Given the description of an element on the screen output the (x, y) to click on. 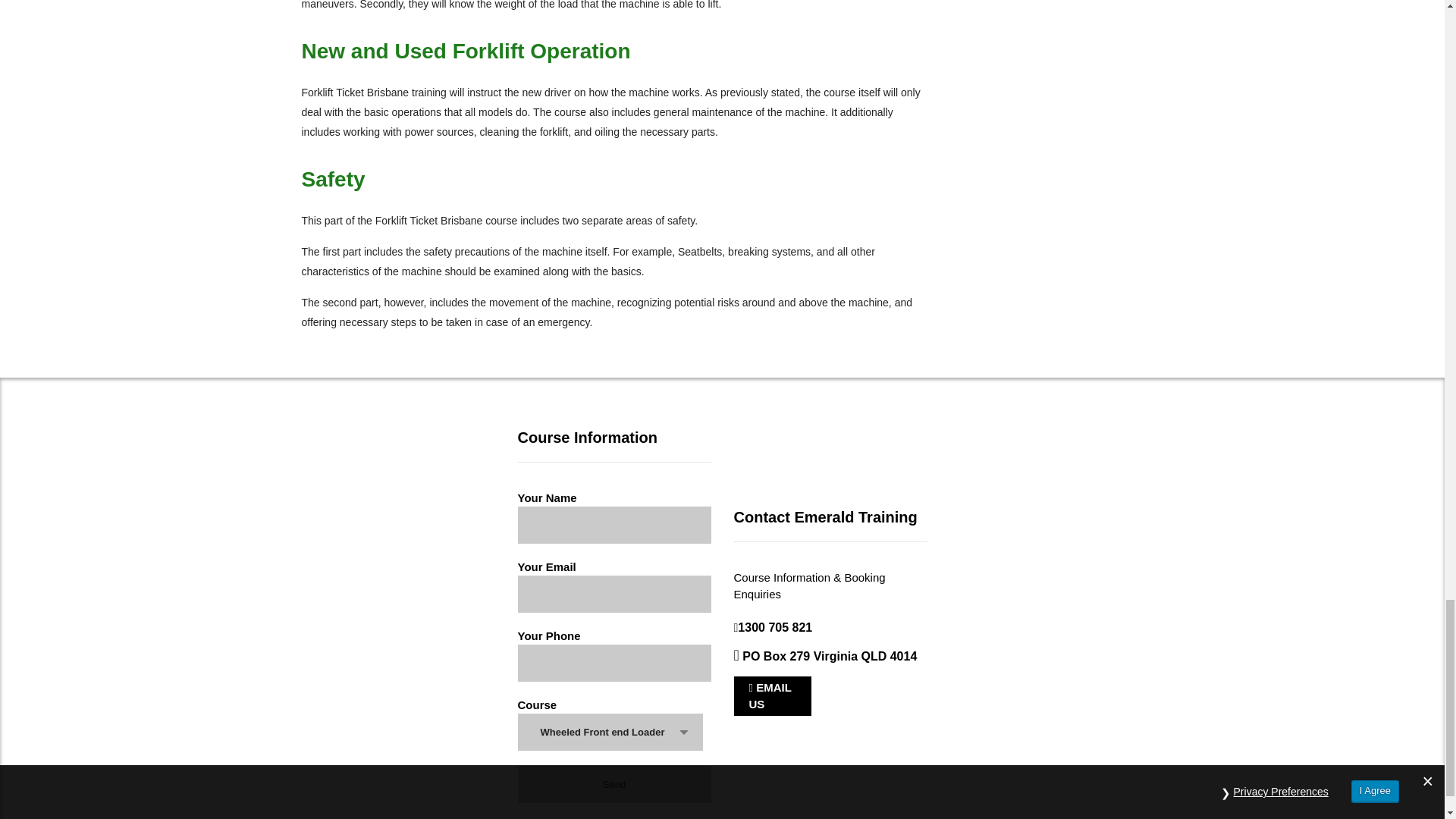
Send (613, 784)
Wheeled Front end Loader (610, 732)
